Given the description of an element on the screen output the (x, y) to click on. 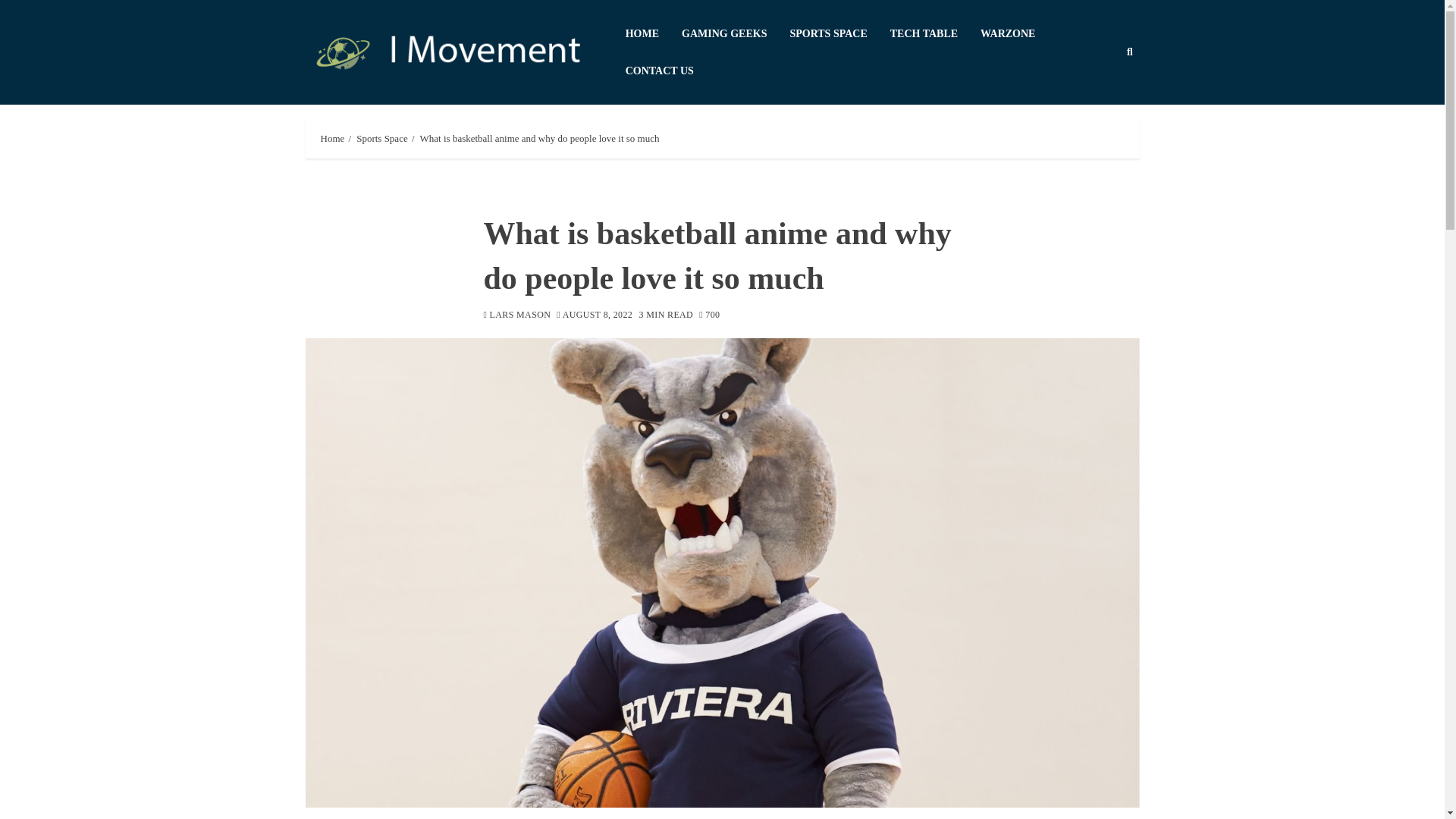
TECH TABLE (934, 33)
What is basketball anime and why do people love it so much (539, 138)
LARS MASON (517, 315)
700 (708, 315)
GAMING GEEKS (735, 33)
WARZONE (1018, 33)
Sports Space (381, 138)
Home (331, 138)
Search (1130, 51)
SPORTS SPACE (839, 33)
Search (1099, 98)
HOME (653, 33)
CONTACT US (671, 70)
